Given the description of an element on the screen output the (x, y) to click on. 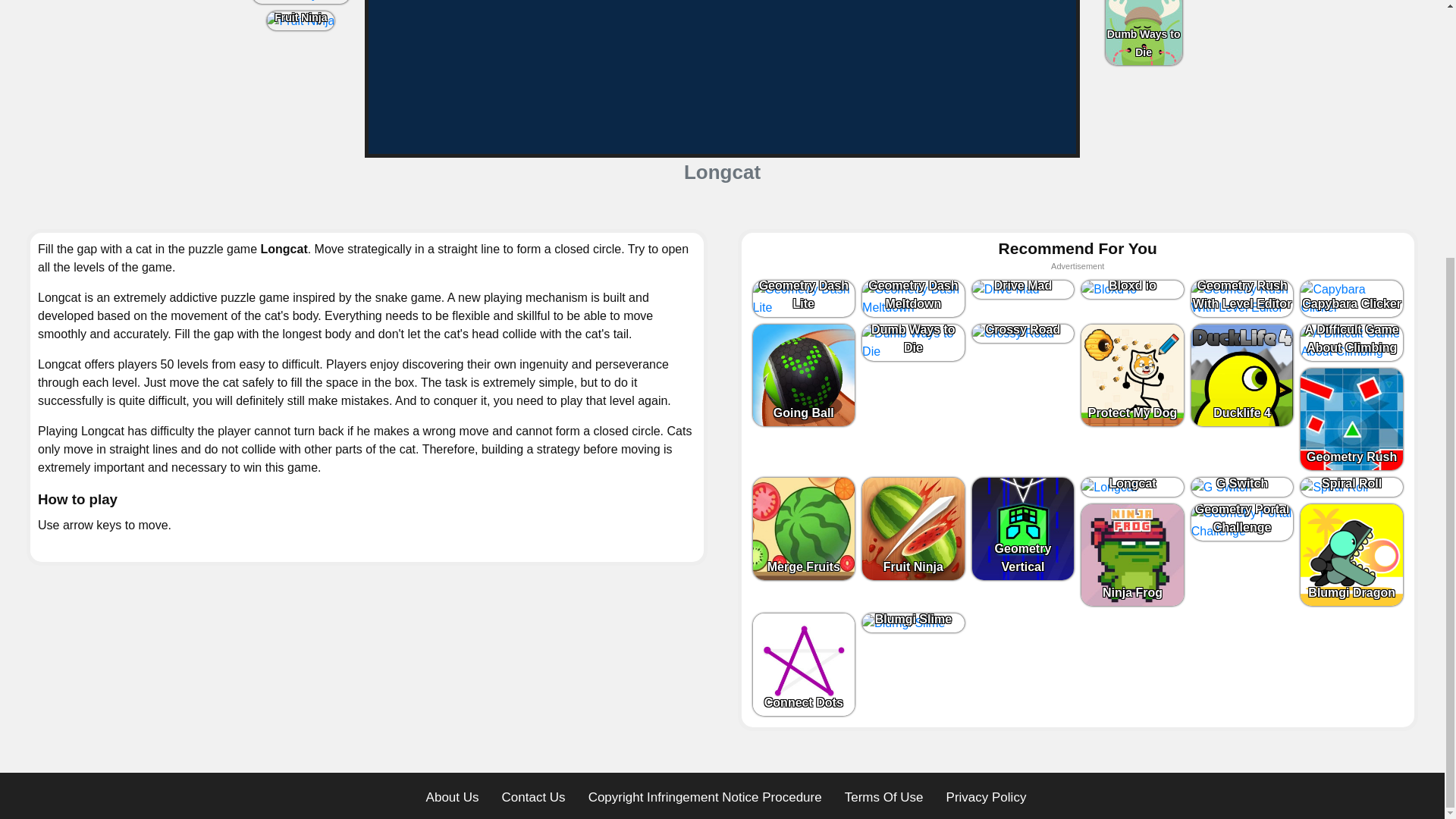
Geometry Dash Meltdown (913, 298)
Geometry Dash Lite (804, 298)
Geometry Rush With Level Editor (1242, 298)
Dumb Ways to Die (1144, 32)
Bloxd io (1132, 289)
Geometry Rush (300, 2)
Geometry Rush (300, 2)
Drive Mad (1023, 289)
Fruit Ninja (300, 20)
Capybara Clicker (1351, 298)
